Given the description of an element on the screen output the (x, y) to click on. 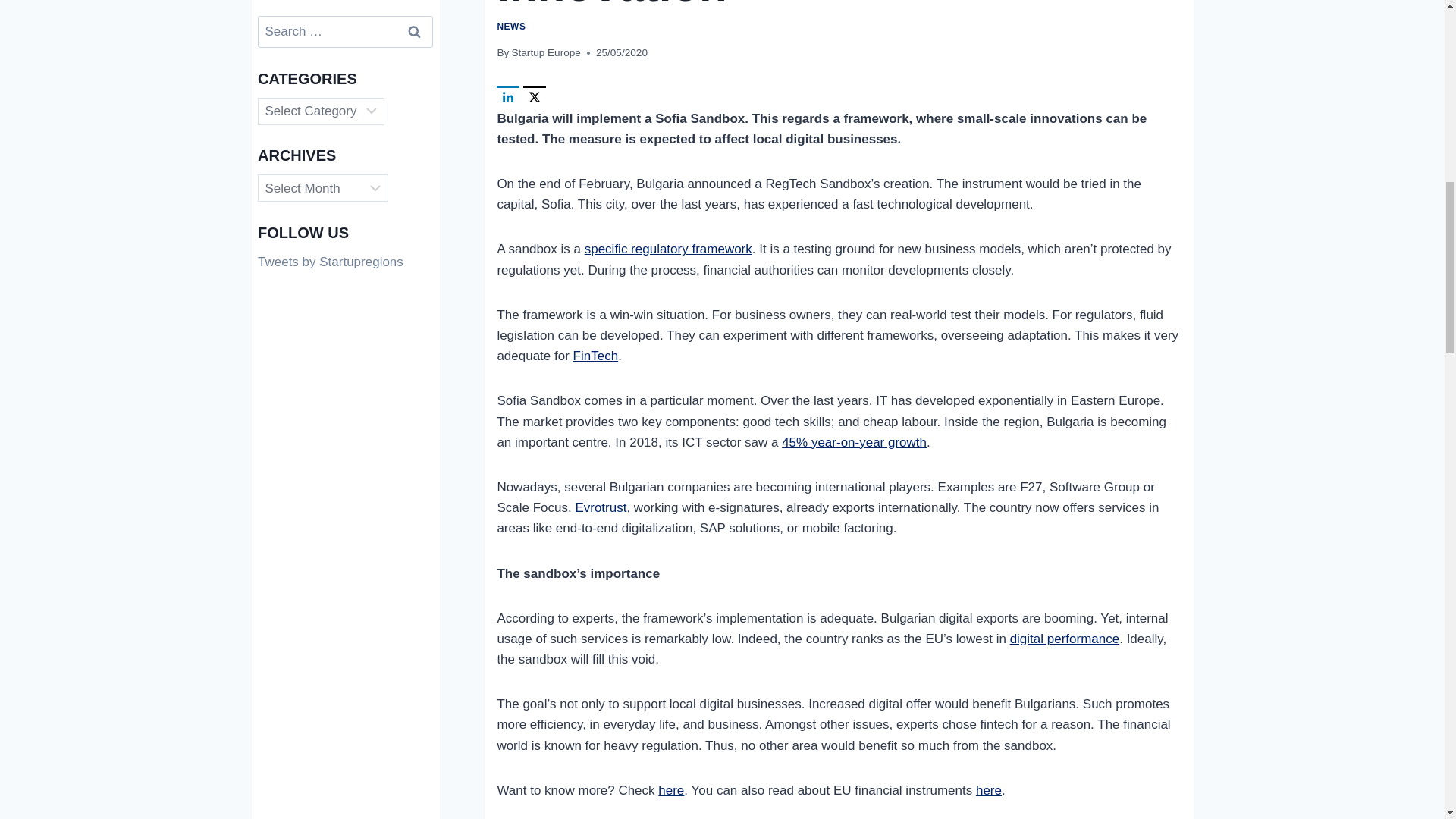
Evrotrust (600, 507)
digital performance (1064, 638)
FinTech (595, 355)
specific regulatory framework (668, 248)
Startup Europe (545, 52)
NEWS (510, 26)
